Given the description of an element on the screen output the (x, y) to click on. 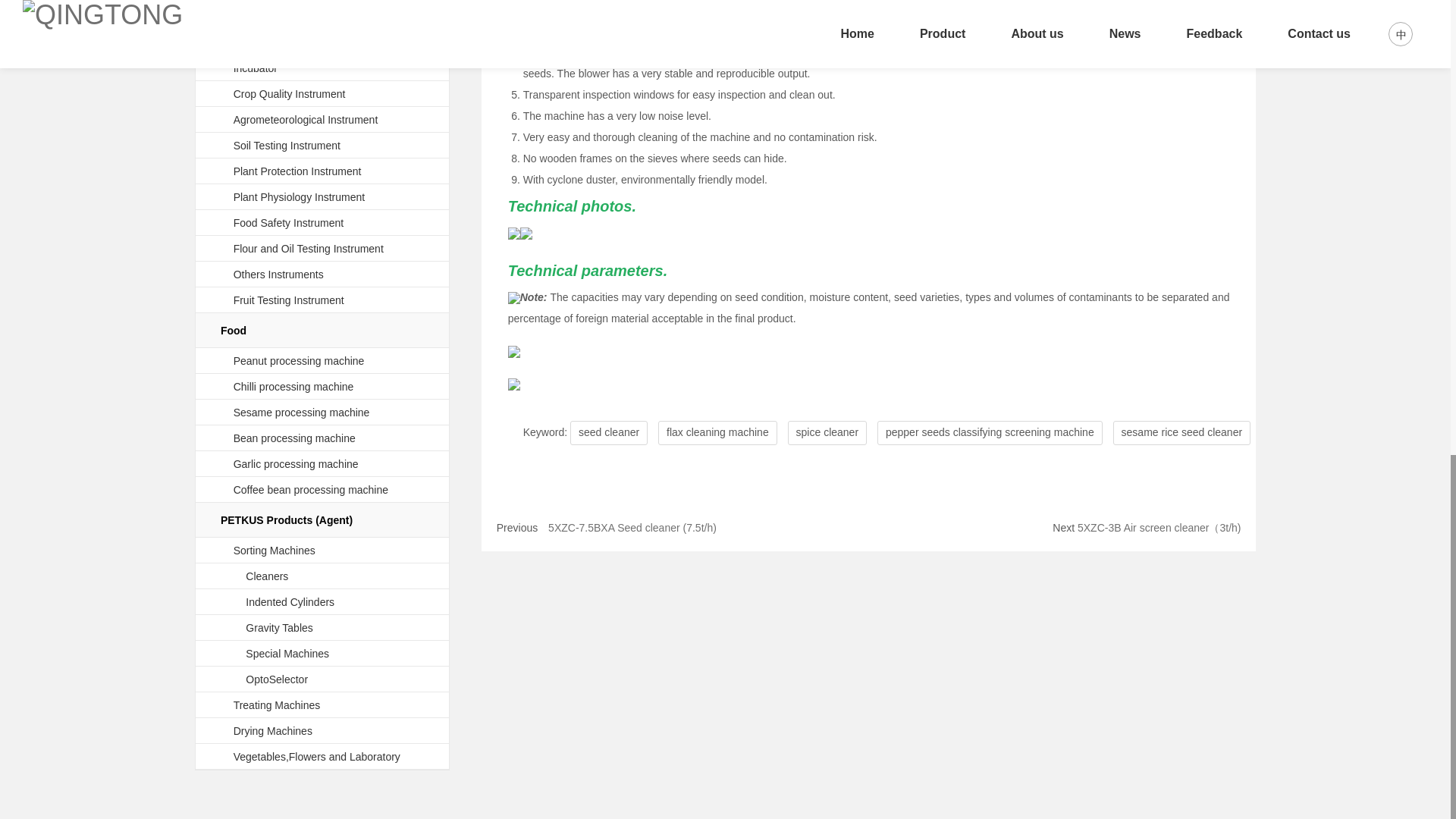
Agri-Lab instruments (275, 11)
